Given the description of an element on the screen output the (x, y) to click on. 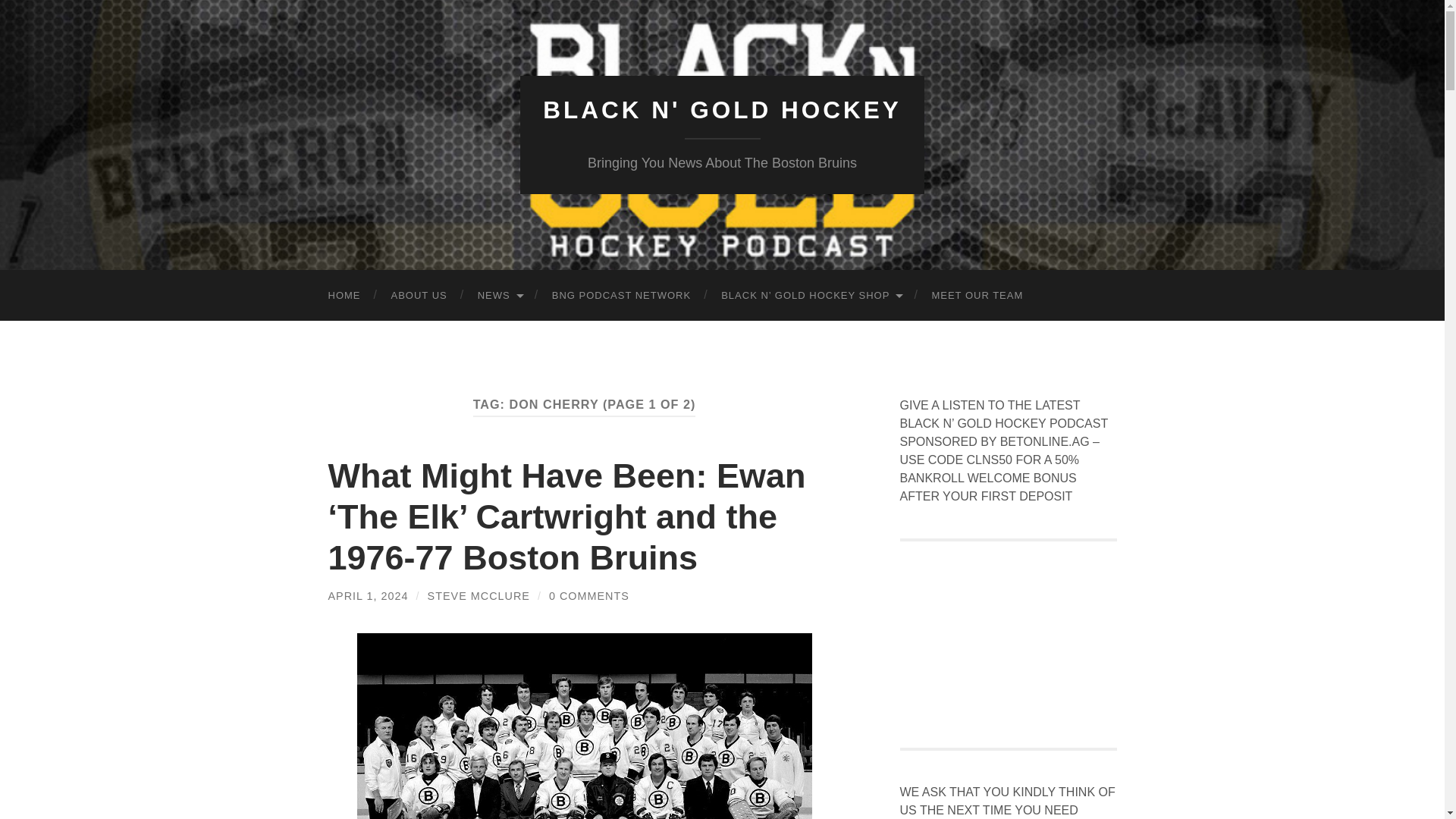
BNG PODCAST NETWORK (621, 295)
Posts by Steve McClure (478, 595)
HOME (344, 295)
MEET OUR TEAM (976, 295)
STEVE MCCLURE (478, 595)
NEWS (500, 295)
0 COMMENTS (588, 595)
ABOUT US (419, 295)
BLACK N' GOLD HOCKEY (722, 109)
APRIL 1, 2024 (367, 595)
